Given the description of an element on the screen output the (x, y) to click on. 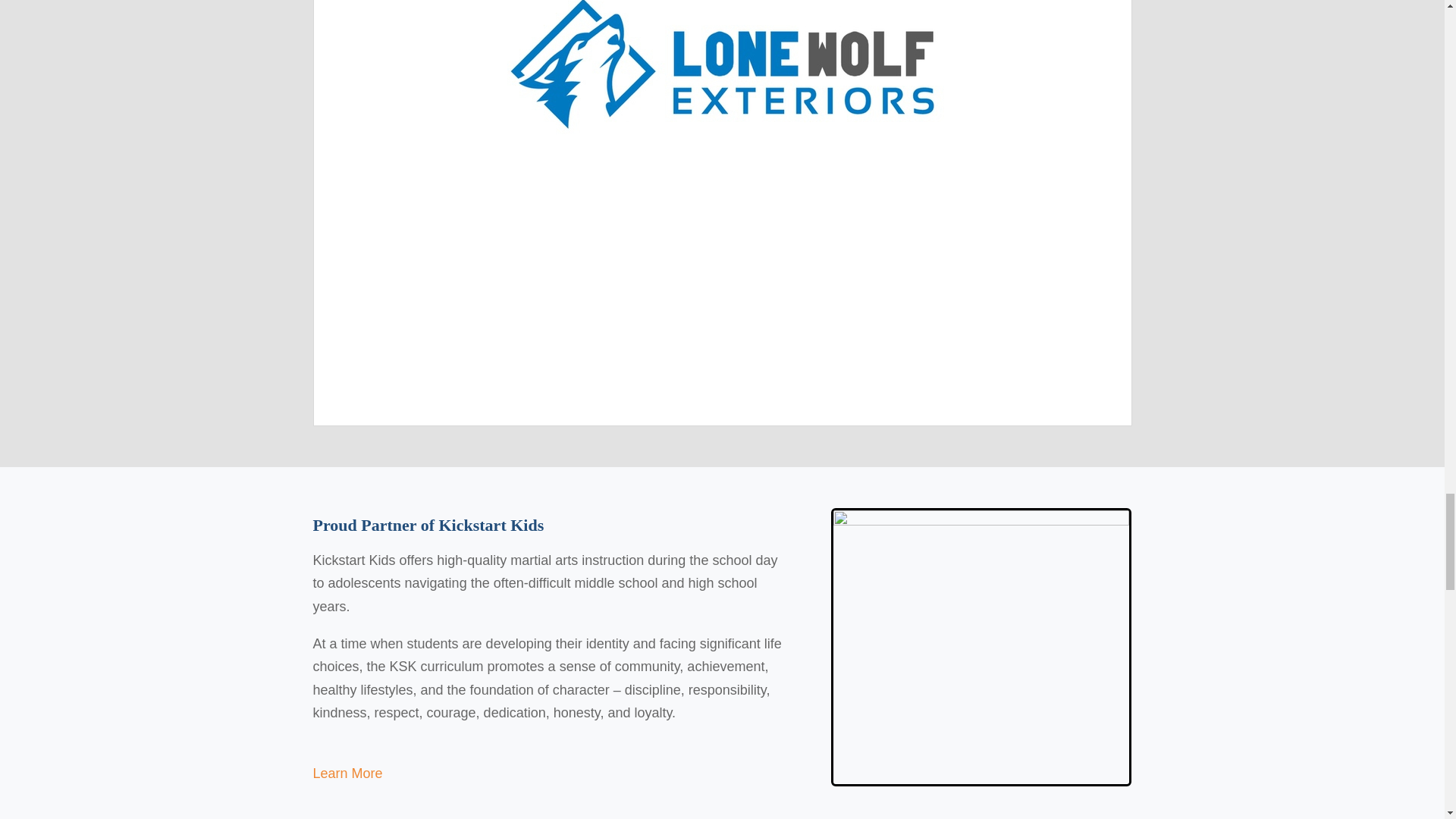
kickstart-kids (980, 646)
YouTube video player (721, 279)
